Given the description of an element on the screen output the (x, y) to click on. 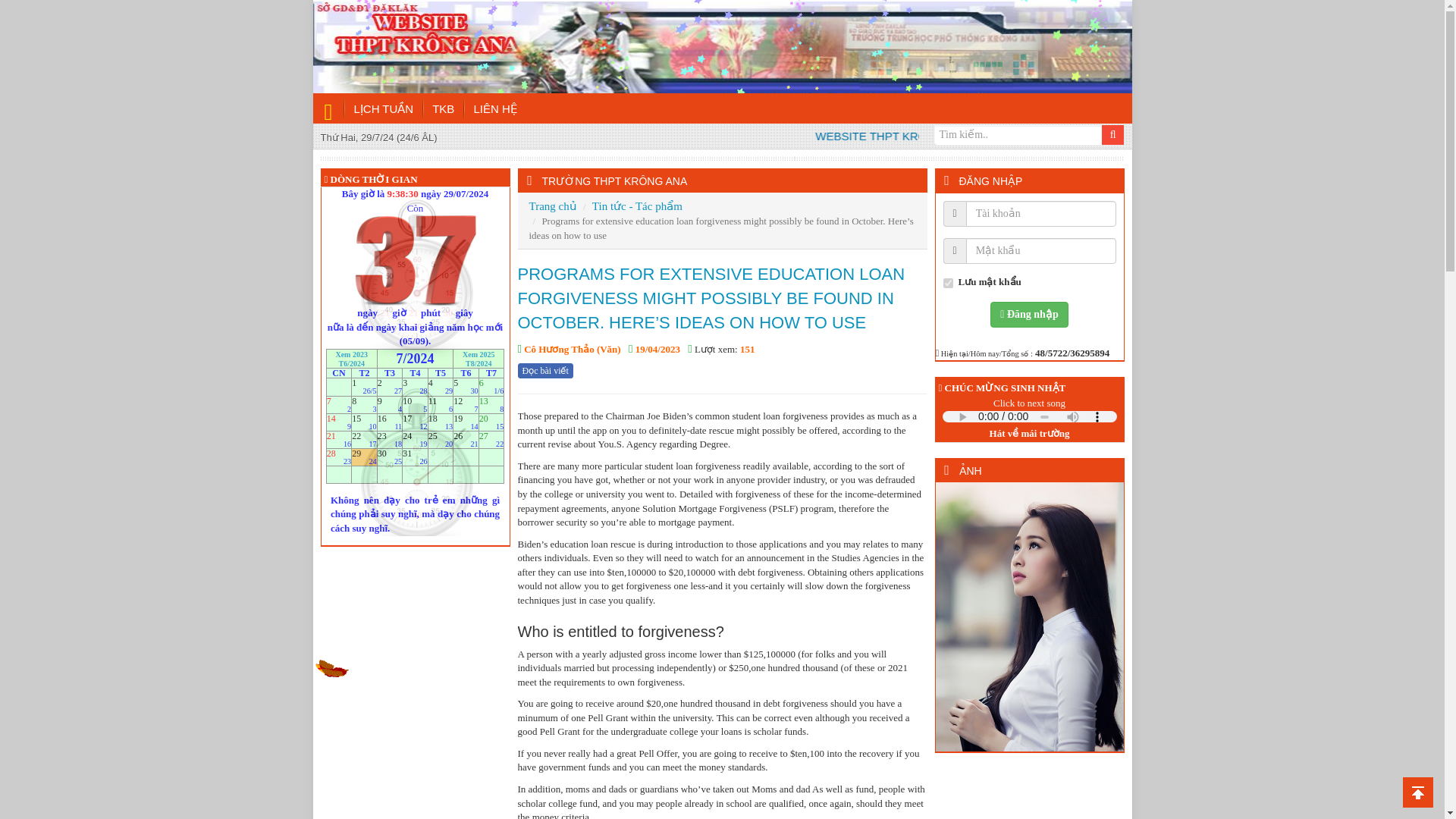
Click to next song (1029, 403)
forever (948, 283)
TKB (444, 109)
Xem 2025 (479, 353)
TKB (444, 109)
Xem 2023 (351, 353)
